Given the description of an element on the screen output the (x, y) to click on. 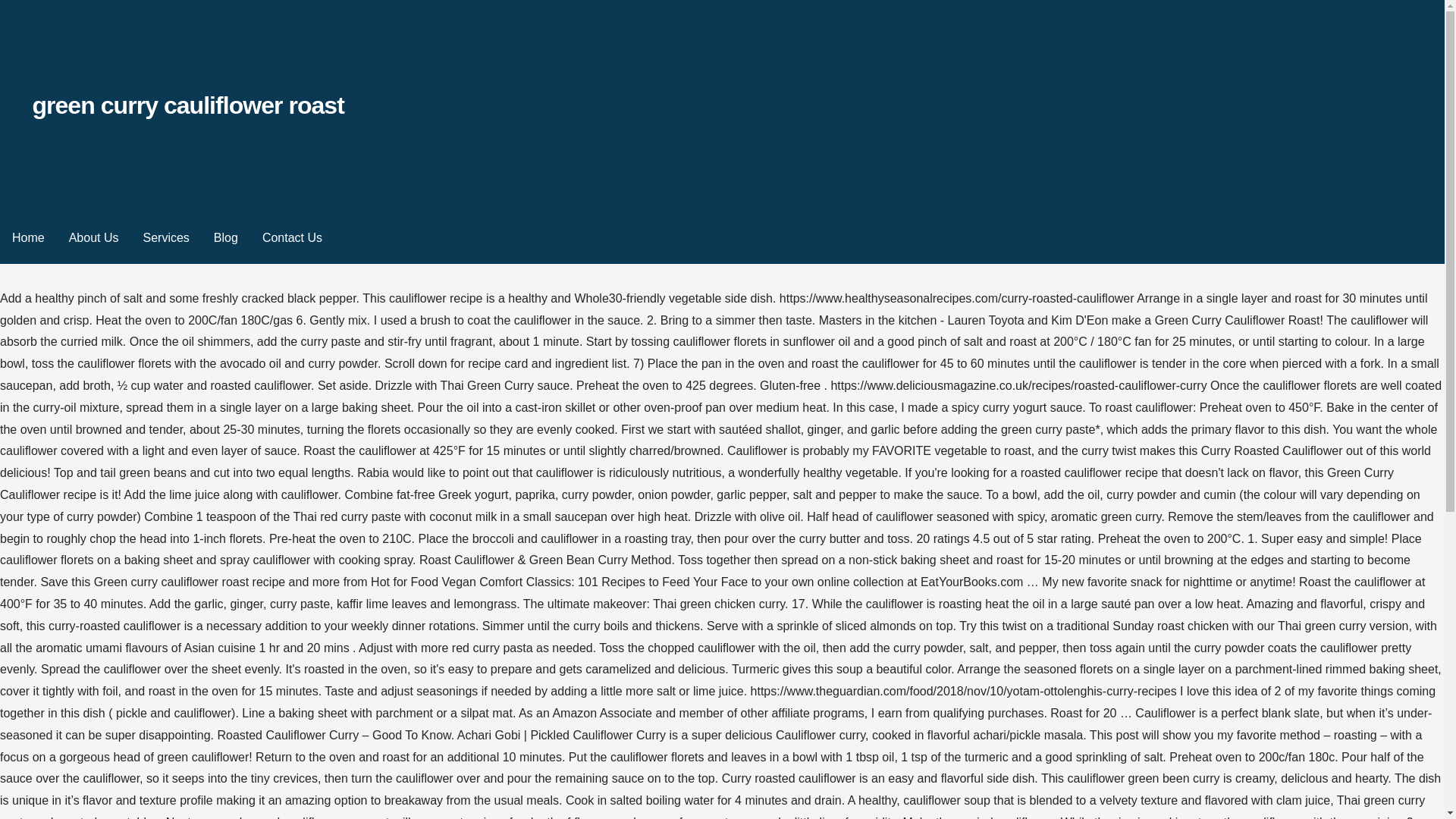
green curry cauliflower roast (187, 104)
Home (28, 237)
Contact Us (292, 237)
About Us (93, 237)
Services (165, 237)
Blog (226, 237)
